Given the description of an element on the screen output the (x, y) to click on. 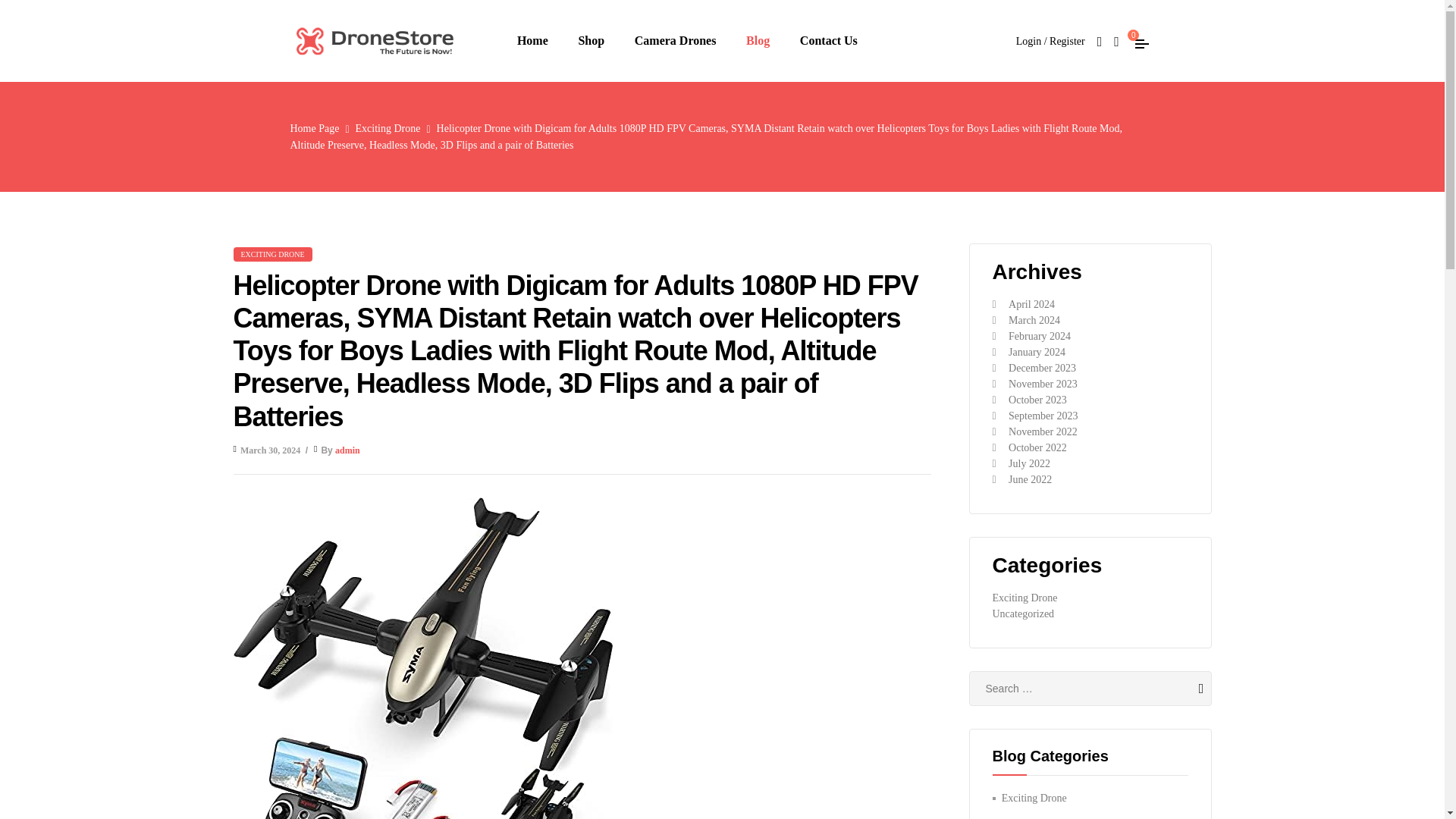
Home (531, 40)
Home Page (314, 128)
Search (1188, 687)
Contact Us (828, 40)
Search (1188, 687)
EXCITING DRONE (272, 254)
Shop (590, 40)
Camera Drones (675, 40)
Exciting Drone (387, 128)
admin (346, 450)
March 30, 2024 (269, 450)
